Given the description of an element on the screen output the (x, y) to click on. 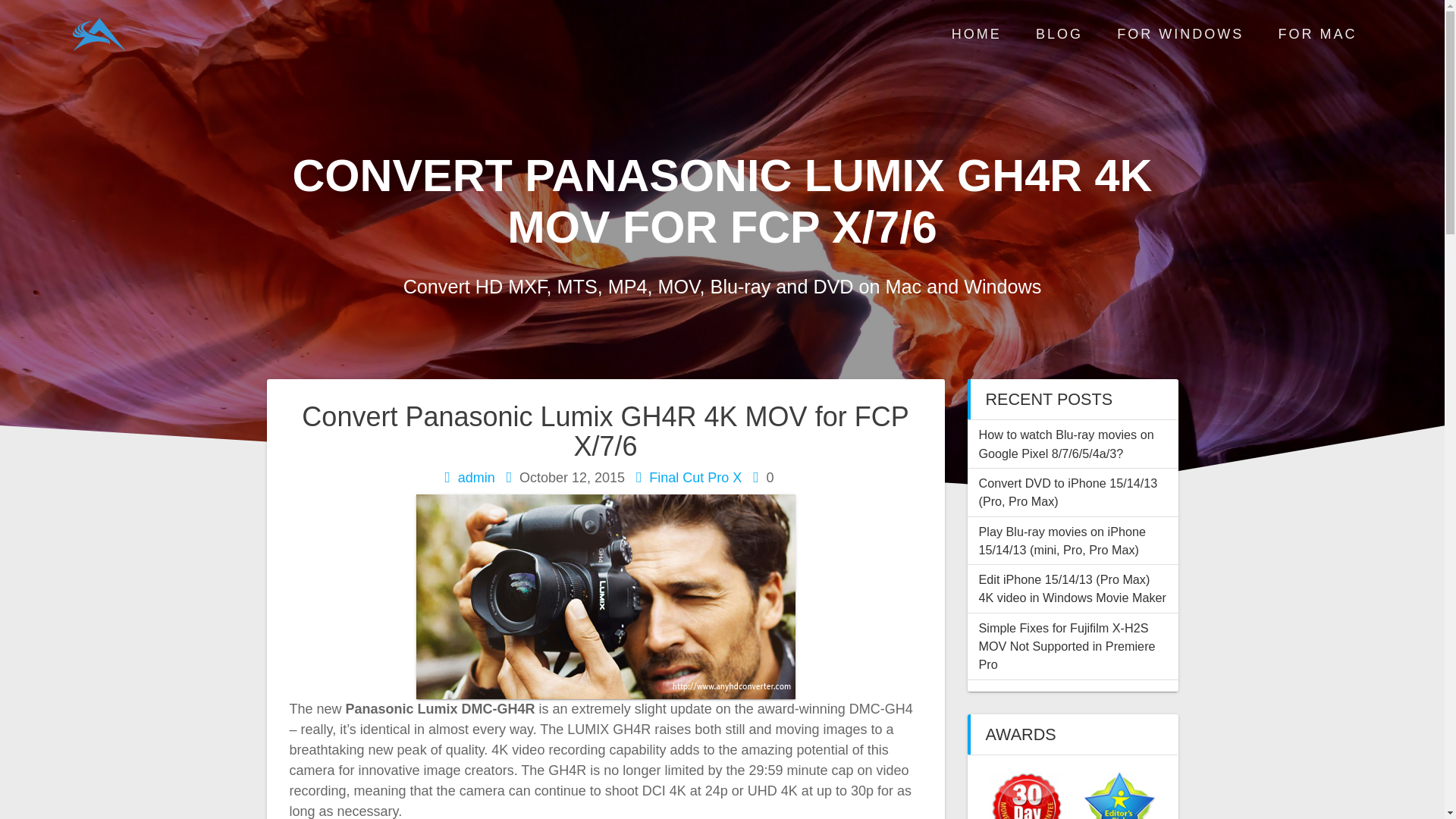
BLOG (1059, 34)
Posts by admin (476, 477)
Final Cut Pro X (695, 477)
HOME (976, 34)
admin (476, 477)
FOR MAC (1317, 34)
FOR WINDOWS (1179, 34)
